Given the description of an element on the screen output the (x, y) to click on. 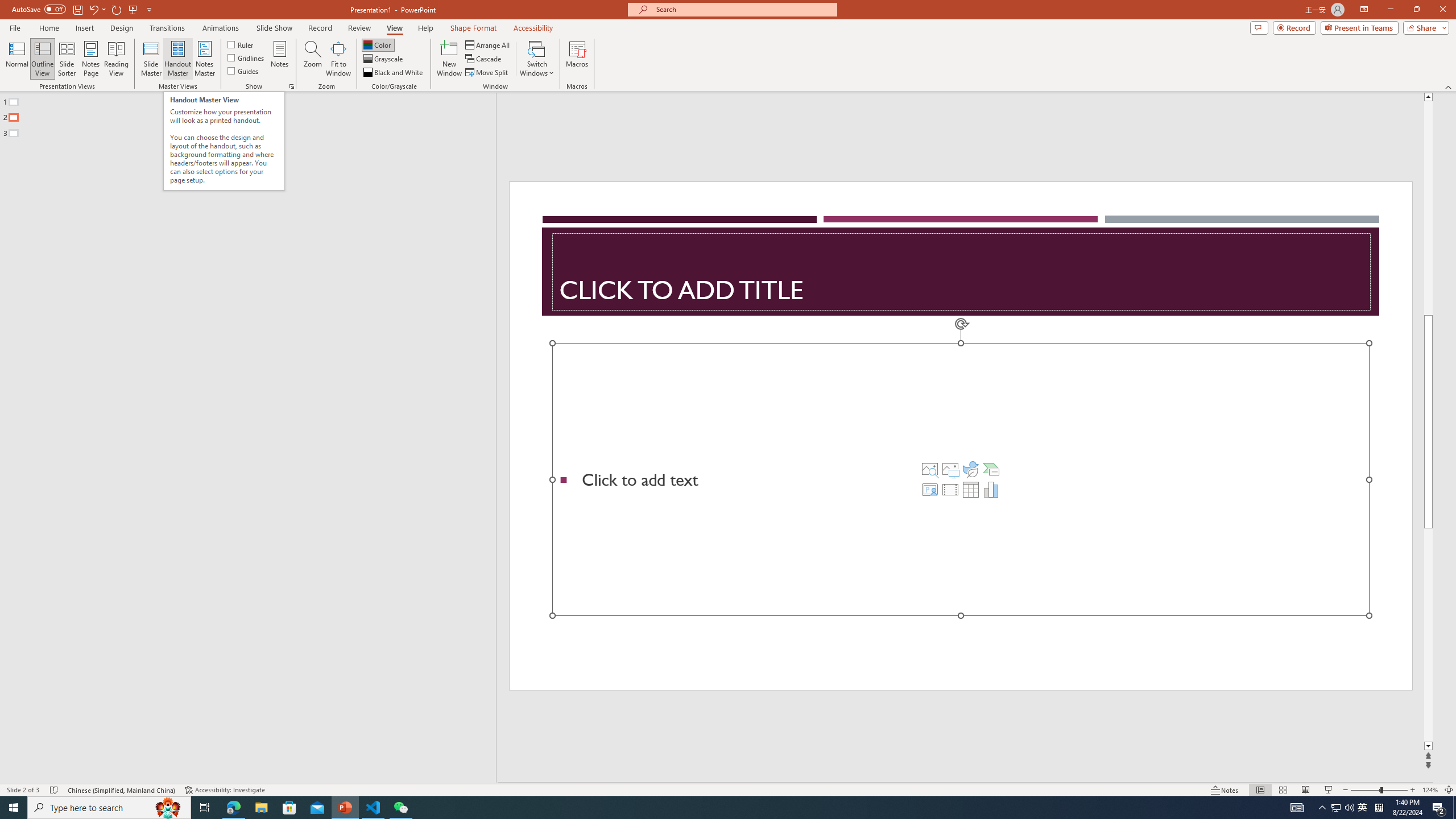
Fit to Window (338, 58)
Color (377, 44)
Zoom... (312, 58)
Notes Page (90, 58)
Slide Master (151, 58)
